Given the description of an element on the screen output the (x, y) to click on. 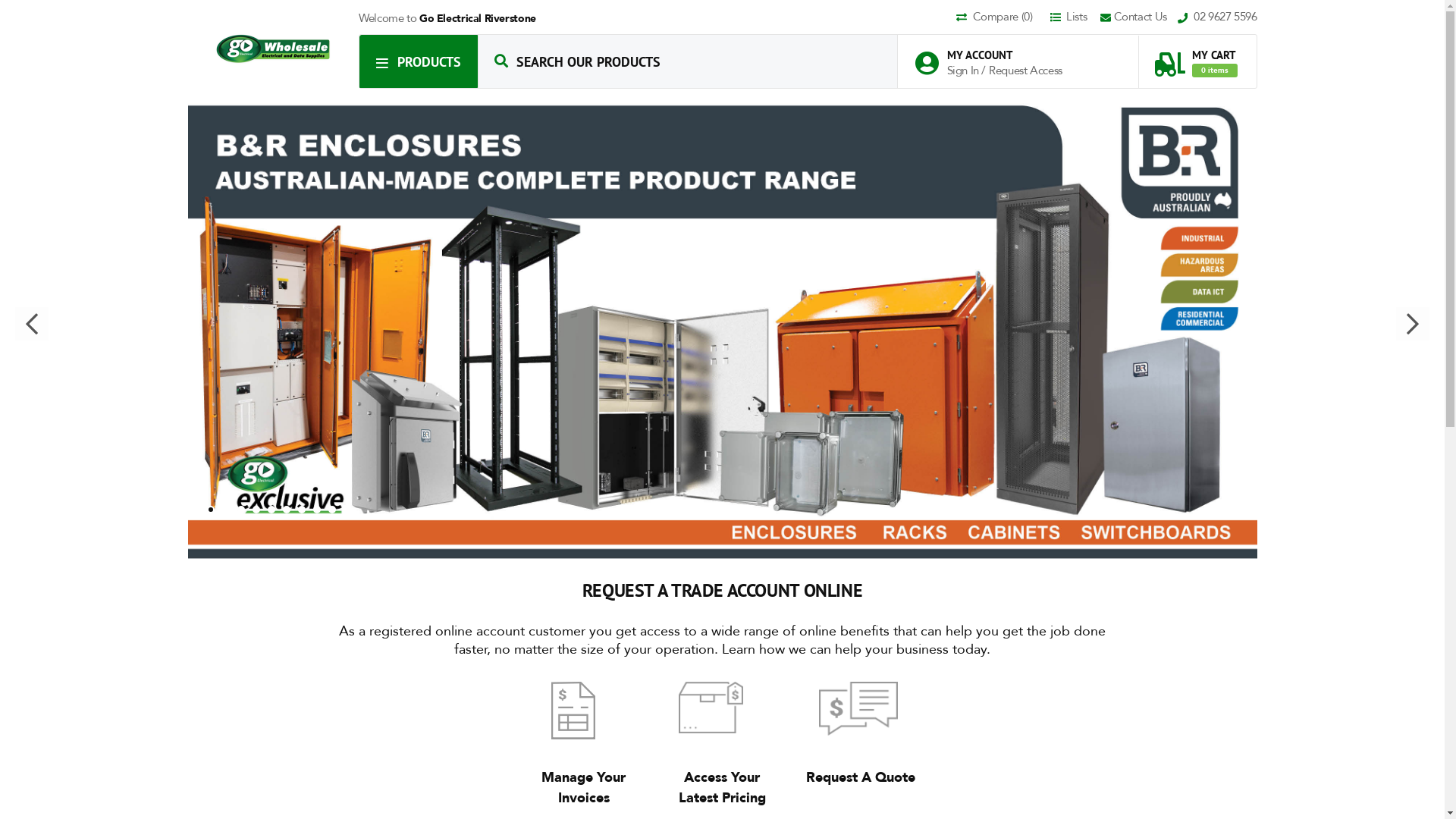
Compare 0 Element type: text (1001, 17)
MY CART
0 items Element type: text (1195, 55)
Previous Element type: text (31, 323)
Search Element type: text (501, 60)
10 Element type: text (331, 509)
3 Element type: text (225, 509)
Sign In Element type: text (963, 70)
Go Electrical  Element type: hover (272, 48)
Request Access Element type: text (1025, 70)
02 9627 5596 Element type: text (1217, 17)
1 Element type: text (194, 509)
5 Element type: text (255, 509)
2 Element type: text (209, 509)
9 Element type: text (316, 509)
4 Element type: text (240, 509)
7 Element type: text (285, 509)
MY ACCOUNT Element type: text (995, 54)
Next Element type: text (1412, 323)
6 Element type: text (270, 509)
Go Electrical  Element type: hover (273, 48)
Contact Us Element type: text (1138, 17)
8 Element type: text (300, 509)
Lists Element type: text (1073, 17)
